Given the description of an element on the screen output the (x, y) to click on. 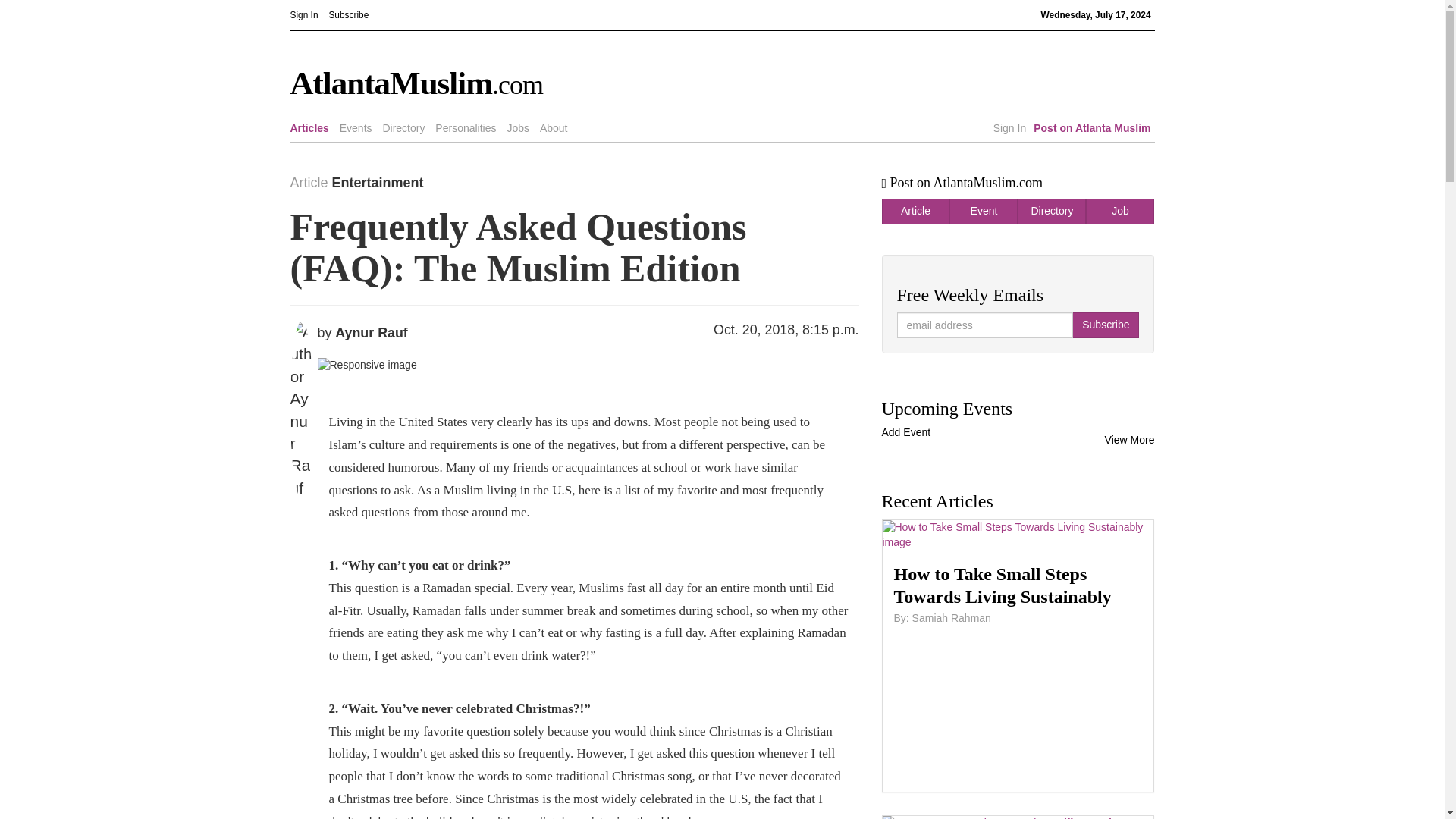
Post on Atlanta Muslim (1091, 128)
Subscribe (348, 14)
Subscribe (1104, 325)
Articles (309, 128)
Sign In (303, 14)
Article (914, 211)
View More (1129, 439)
Jobs (517, 128)
AtlantaMuslim.com (611, 82)
Directory (1051, 211)
Upcoming Events (1017, 408)
Events (355, 128)
Recent Articles (1017, 501)
Directory (403, 128)
How to Take Small Steps Towards Living Sustainably (1017, 585)
